Given the description of an element on the screen output the (x, y) to click on. 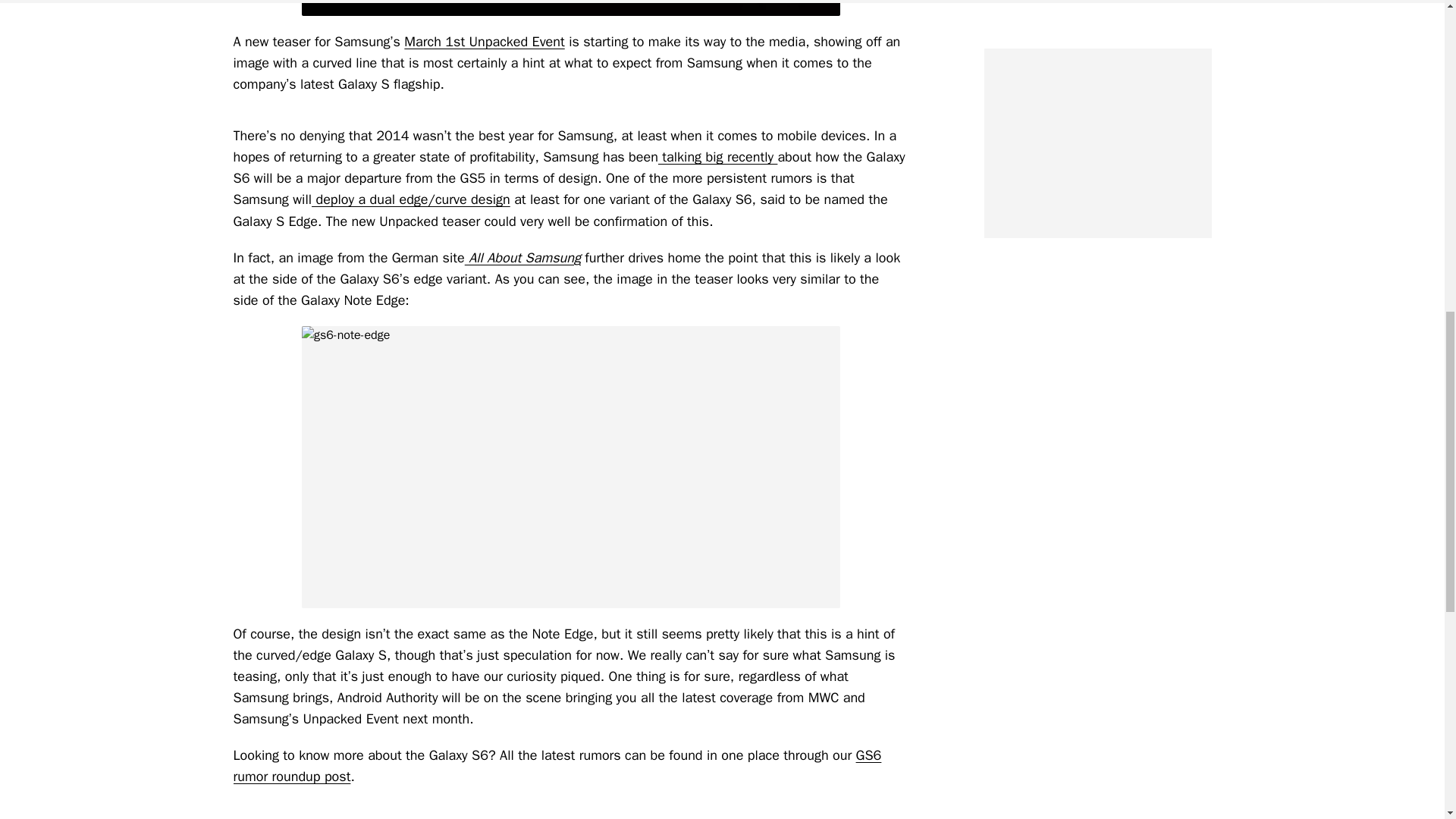
samsung-edge-teaser (570, 7)
March 1st Unpacked Event (484, 41)
talking big recently (717, 156)
GS6 rumor roundup post (557, 765)
All About Samsung (522, 257)
Rumor: Samsung Galaxy S6 to launch at MWC 2015, but no LG G4 (484, 41)
